Given the description of an element on the screen output the (x, y) to click on. 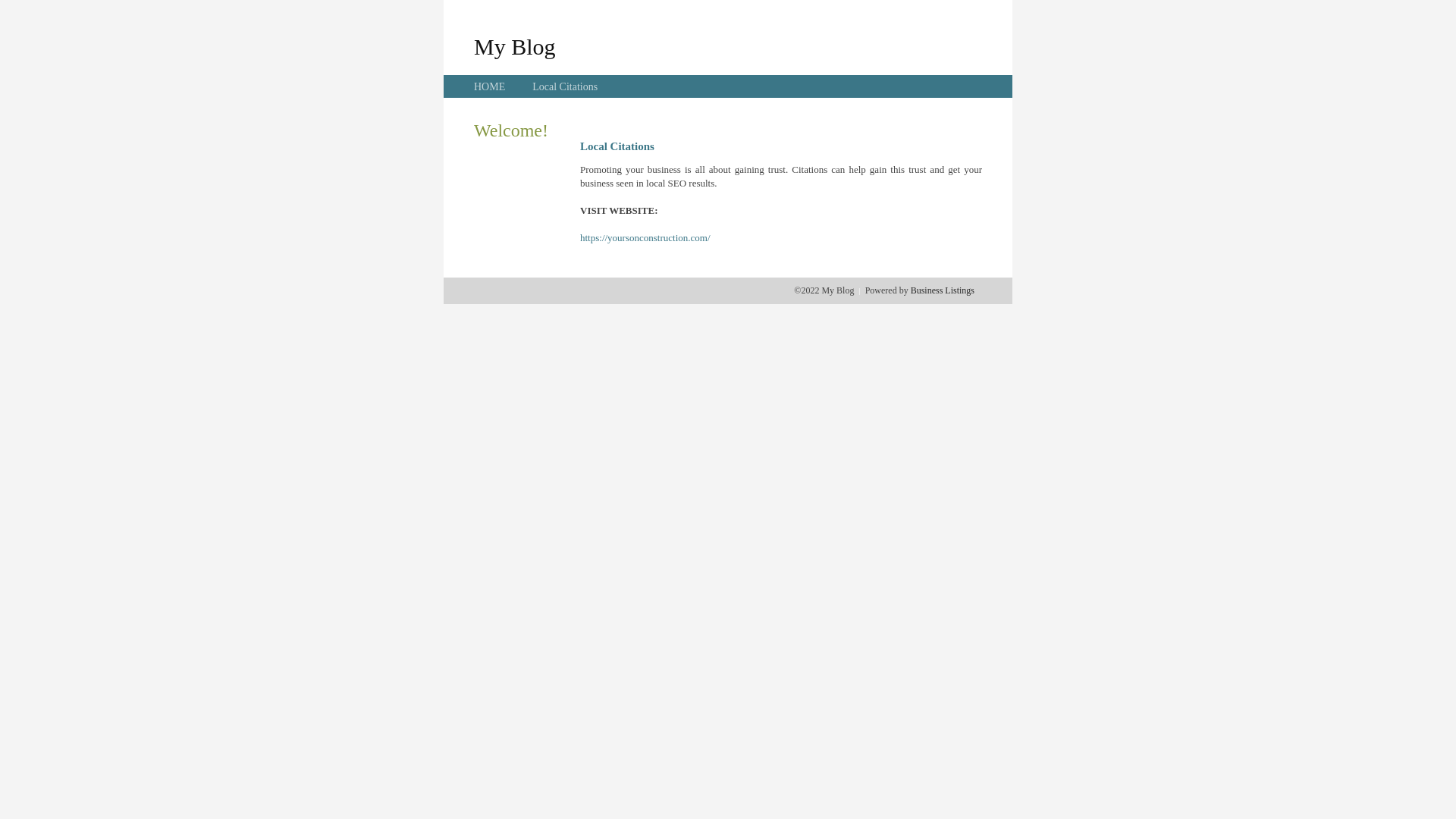
HOME Element type: text (489, 86)
Local Citations Element type: text (564, 86)
My Blog Element type: text (514, 46)
Business Listings Element type: text (942, 290)
https://yoursonconstruction.com/ Element type: text (645, 237)
